Given the description of an element on the screen output the (x, y) to click on. 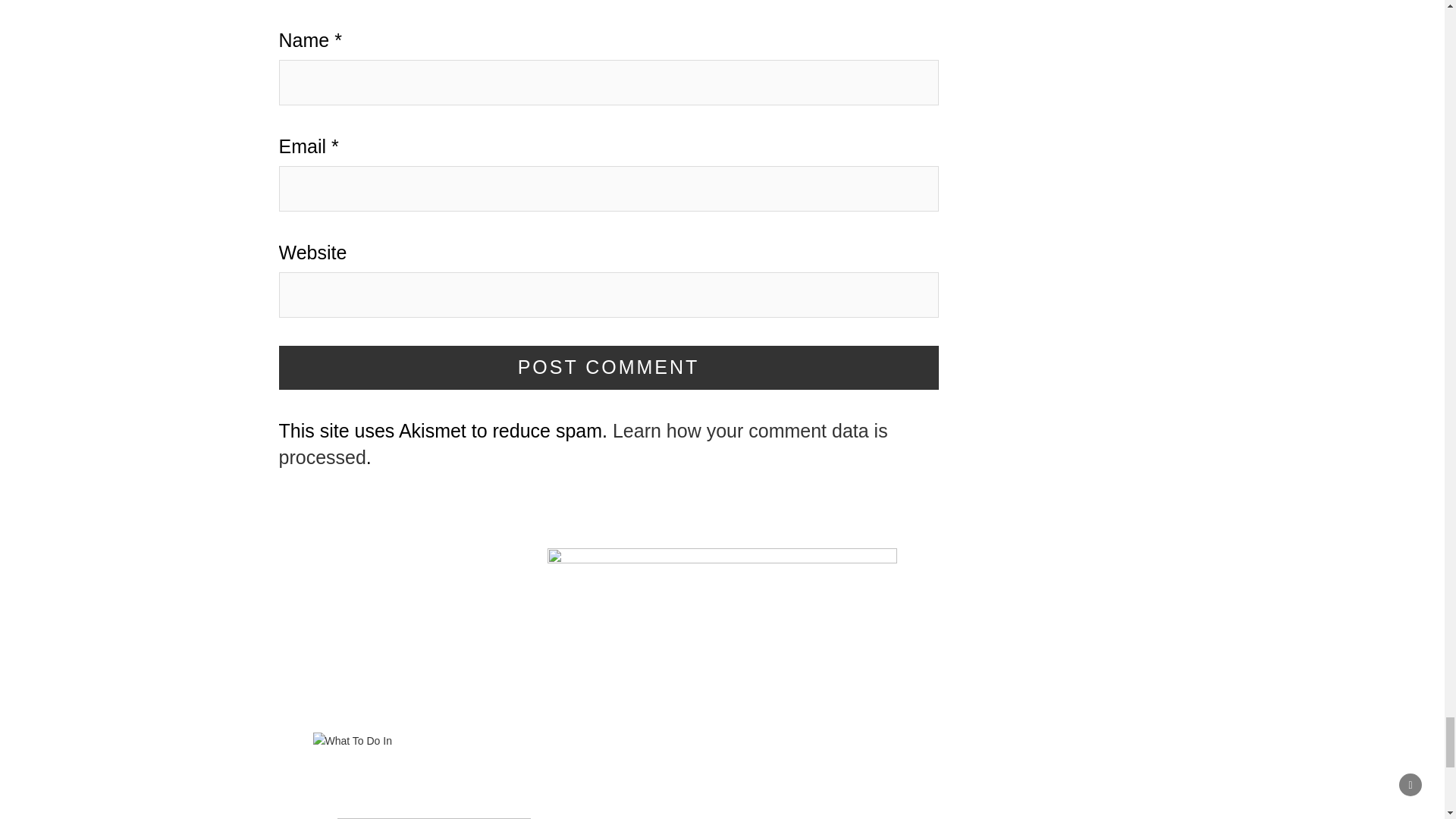
Post Comment (609, 367)
